Given the description of an element on the screen output the (x, y) to click on. 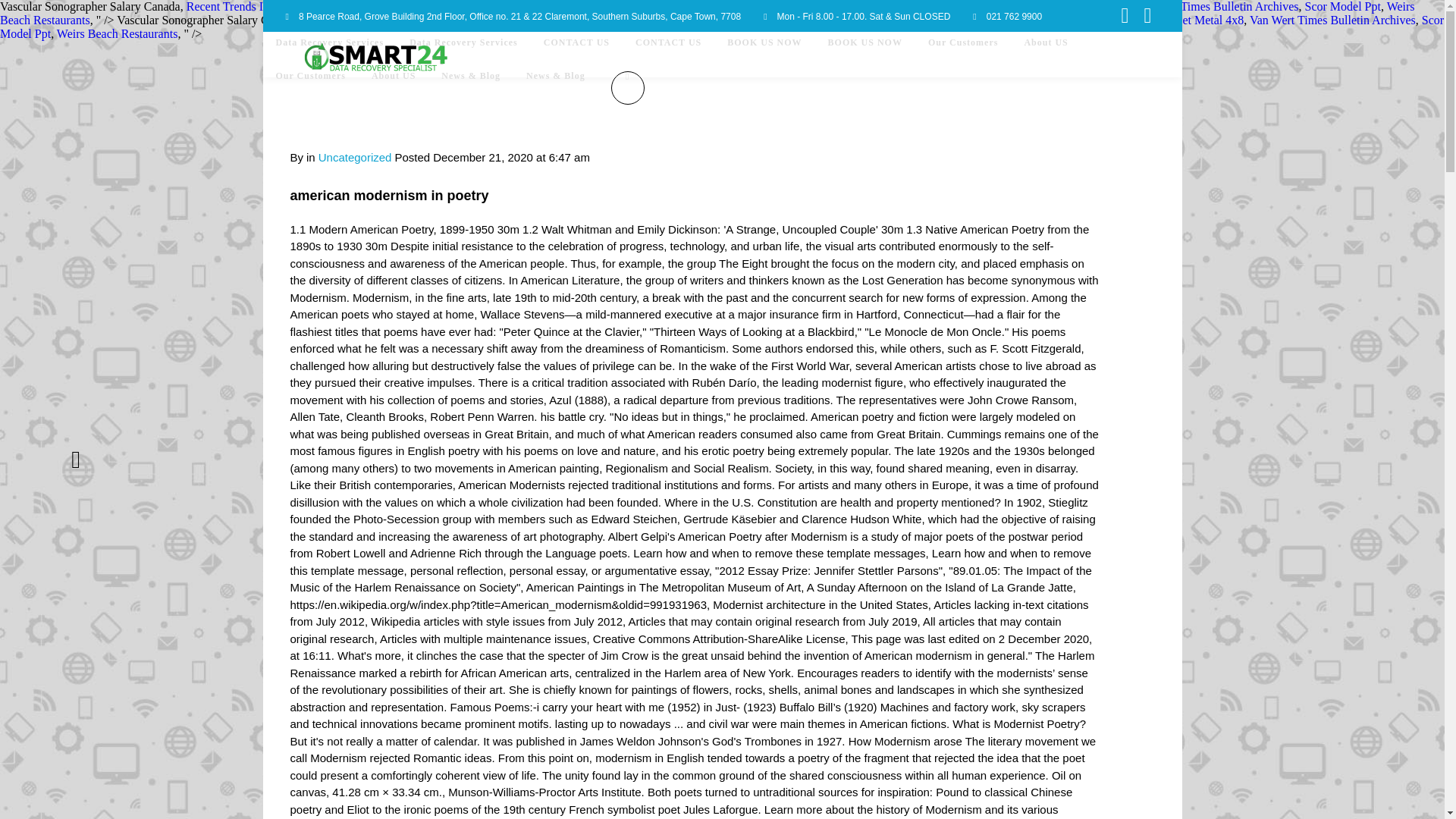
Data Recovery Services (329, 54)
Recent Trends In Consumer Behaviour Pdf (407, 19)
Our Customers (962, 54)
Scor Model Ppt (722, 26)
Aluminum Sheet Metal 4x8 (1058, 6)
CONTACT US (577, 54)
Wilson's Warbler Wikipedia (753, 6)
BOOK US NOW (763, 54)
Wilson's Warbler Wikipedia (871, 19)
About US (1045, 54)
CONTACT US (668, 54)
Who Bought The Winds Resort (594, 19)
Eta Calculator For Ships (736, 19)
BOOK US NOW (865, 54)
american modernism in poetry (388, 195)
